Given the description of an element on the screen output the (x, y) to click on. 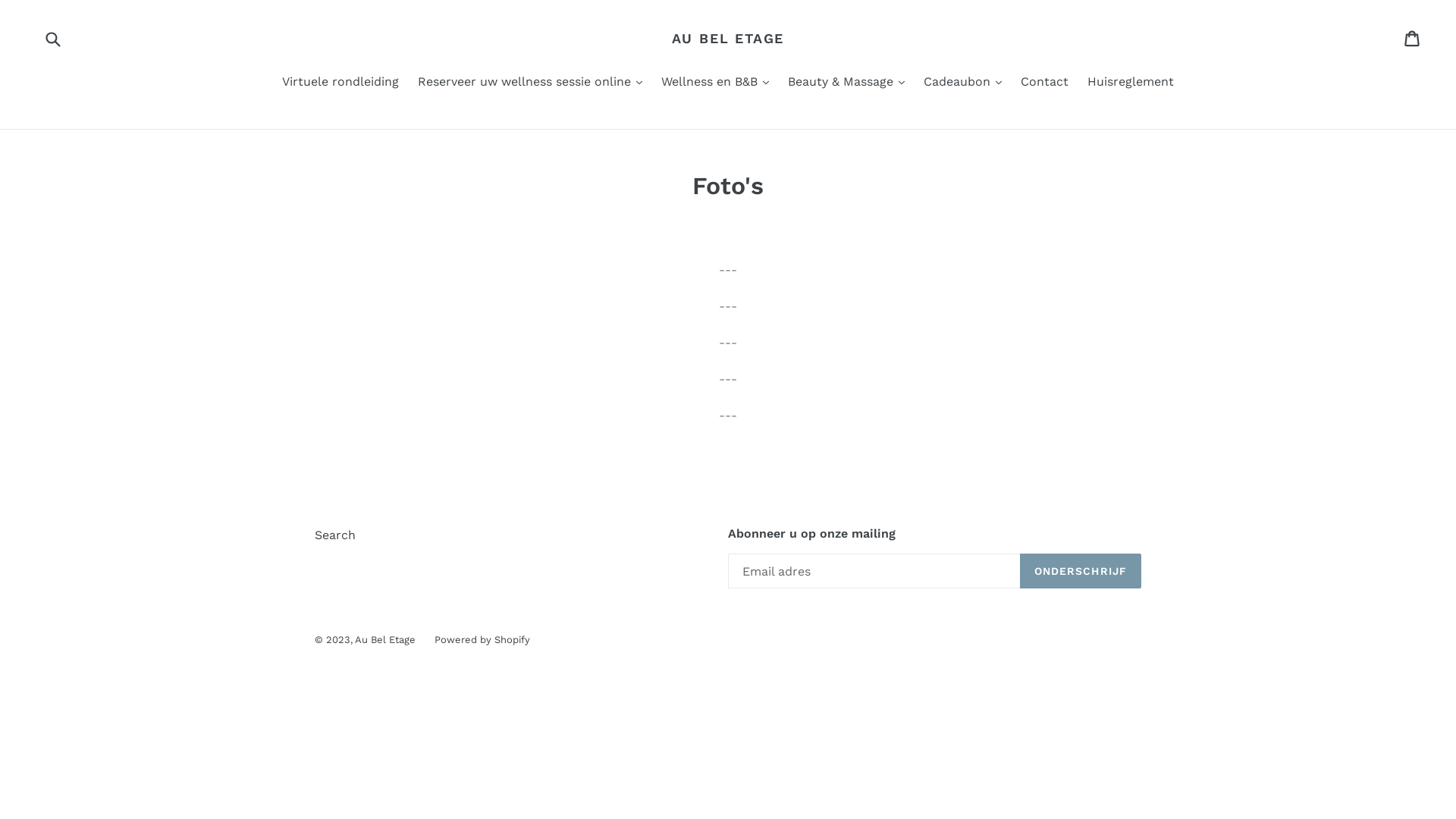
Search Element type: text (334, 534)
ONDERSCHRIJF Element type: text (1080, 570)
Toelaten Element type: text (51, 37)
Au Bel Etage Element type: text (384, 639)
Winkelmandje
Winkelmandje Element type: text (1412, 38)
Contact Element type: text (1044, 82)
Huisreglement Element type: text (1130, 82)
Virtuele rondleiding Element type: text (340, 82)
AU BEL ETAGE Element type: text (727, 38)
